Given the description of an element on the screen output the (x, y) to click on. 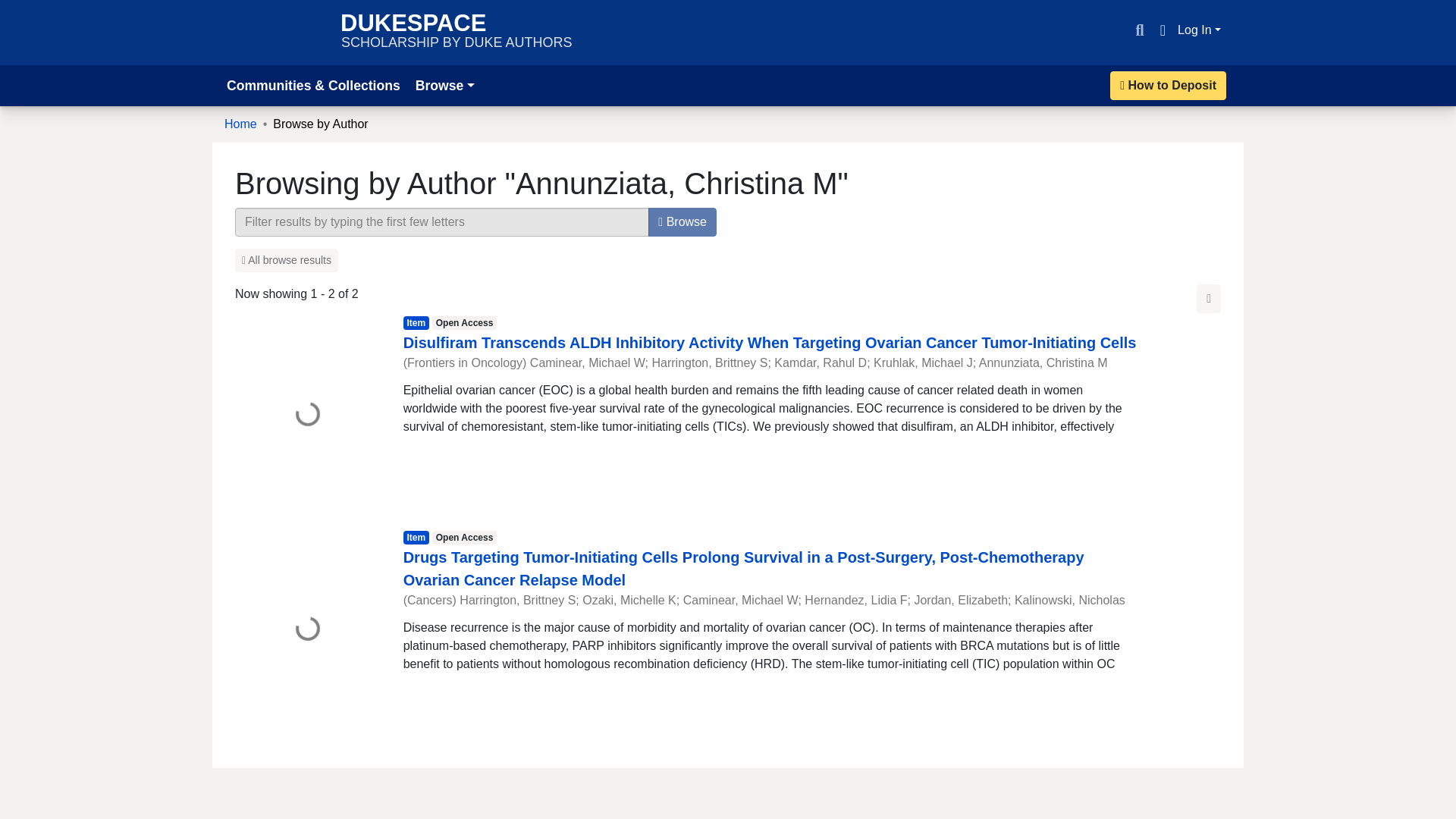
Duke University Libraries (274, 32)
Language switch (1162, 30)
Browse (456, 32)
Log In (681, 222)
All browse results (1199, 29)
Loading... (285, 259)
Home (307, 630)
How to Deposit (240, 124)
Pagination options (1167, 85)
Skip to Main Content (1208, 298)
Browse (18, 9)
Loading... (444, 85)
